Given the description of an element on the screen output the (x, y) to click on. 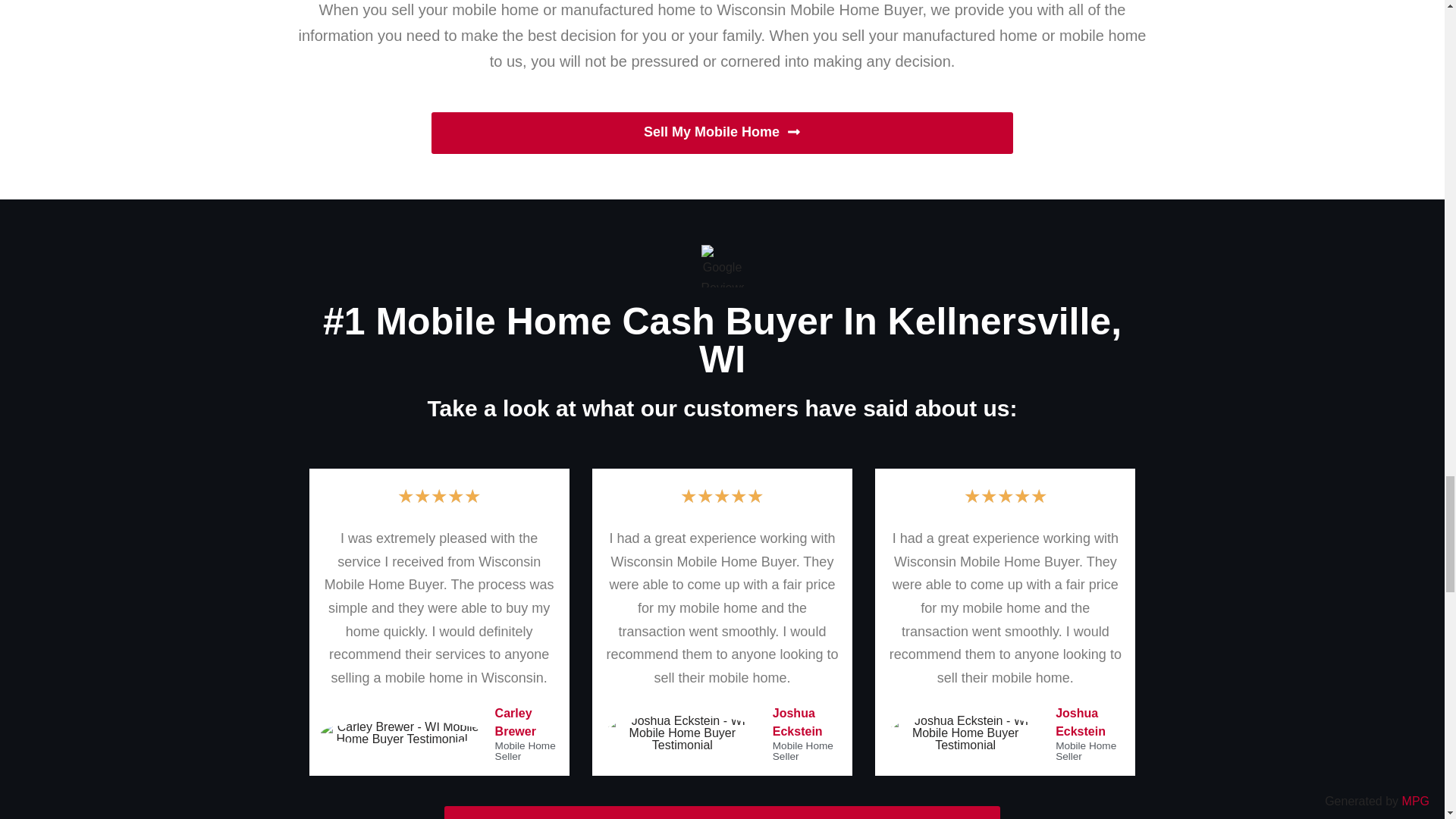
Sell My Mobile Home (721, 132)
I Want A Cash Offer! (722, 812)
